Given the description of an element on the screen output the (x, y) to click on. 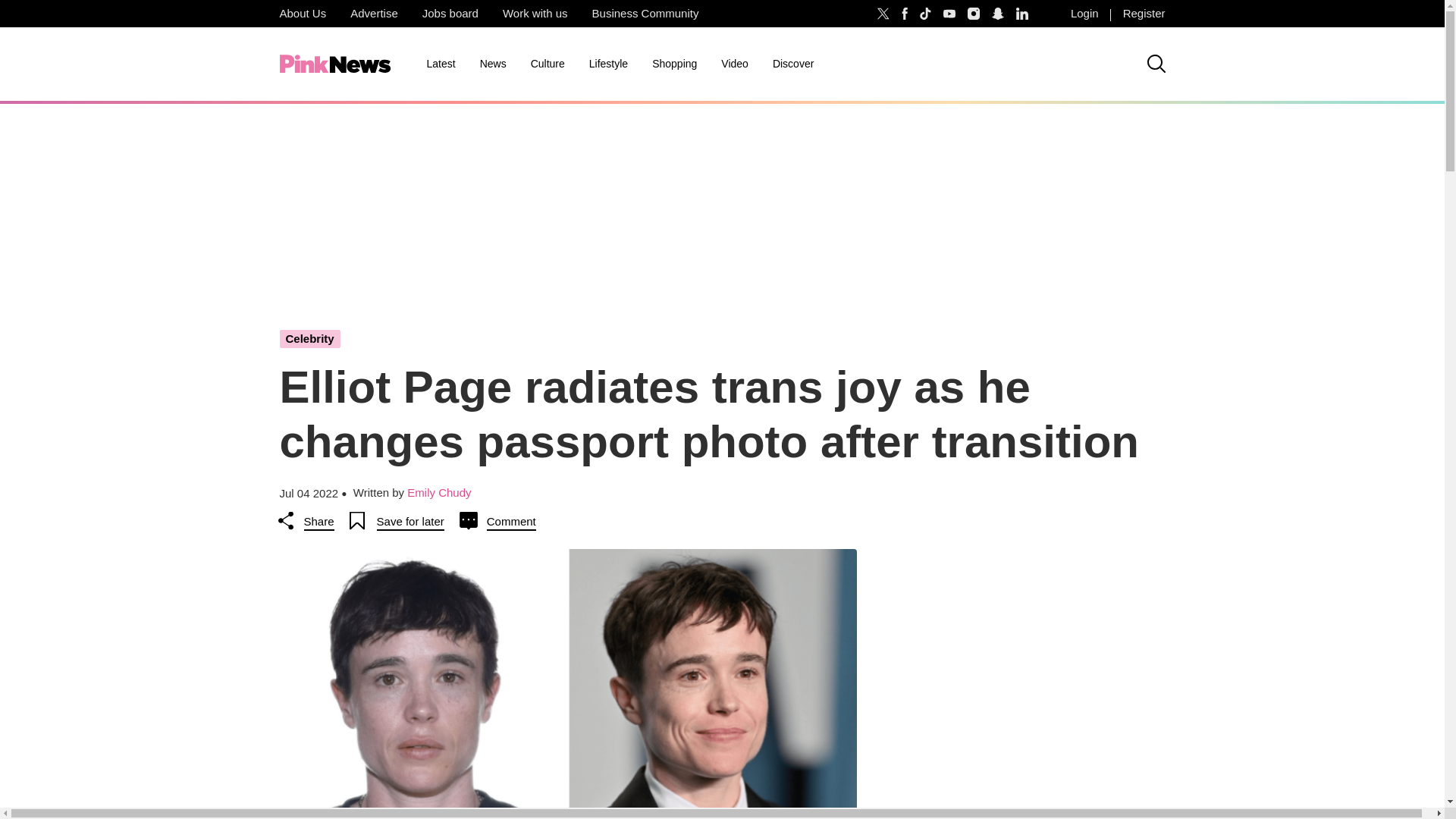
Work with us (534, 13)
Business Community (645, 13)
Culture (547, 63)
Follow PinkNews on LinkedIn (1021, 13)
Login (1084, 13)
Lifestyle (608, 63)
Latest (440, 63)
Jobs board (450, 13)
Register (1143, 13)
News (493, 63)
